Given the description of an element on the screen output the (x, y) to click on. 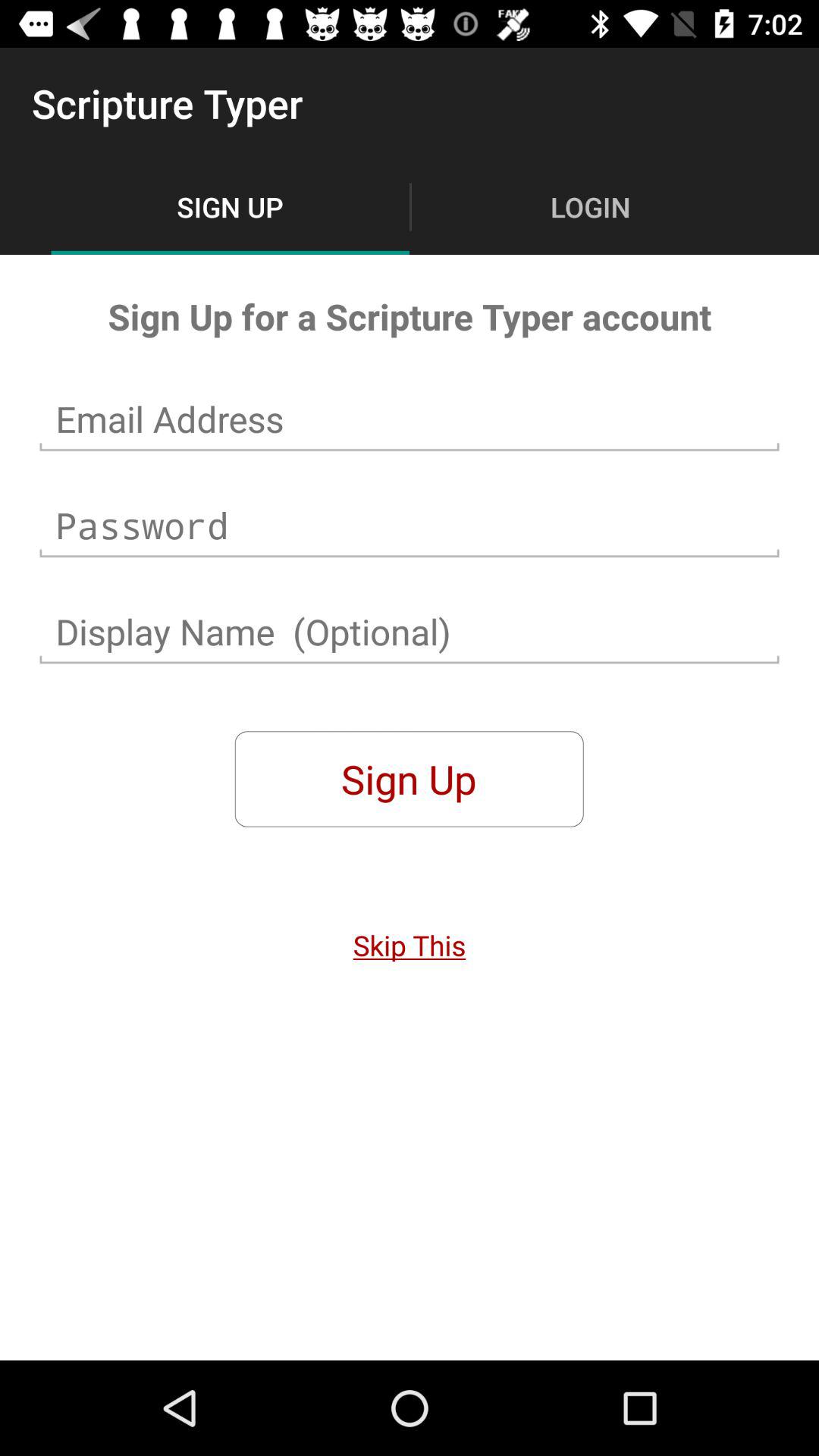
open the skip this (409, 945)
